Given the description of an element on the screen output the (x, y) to click on. 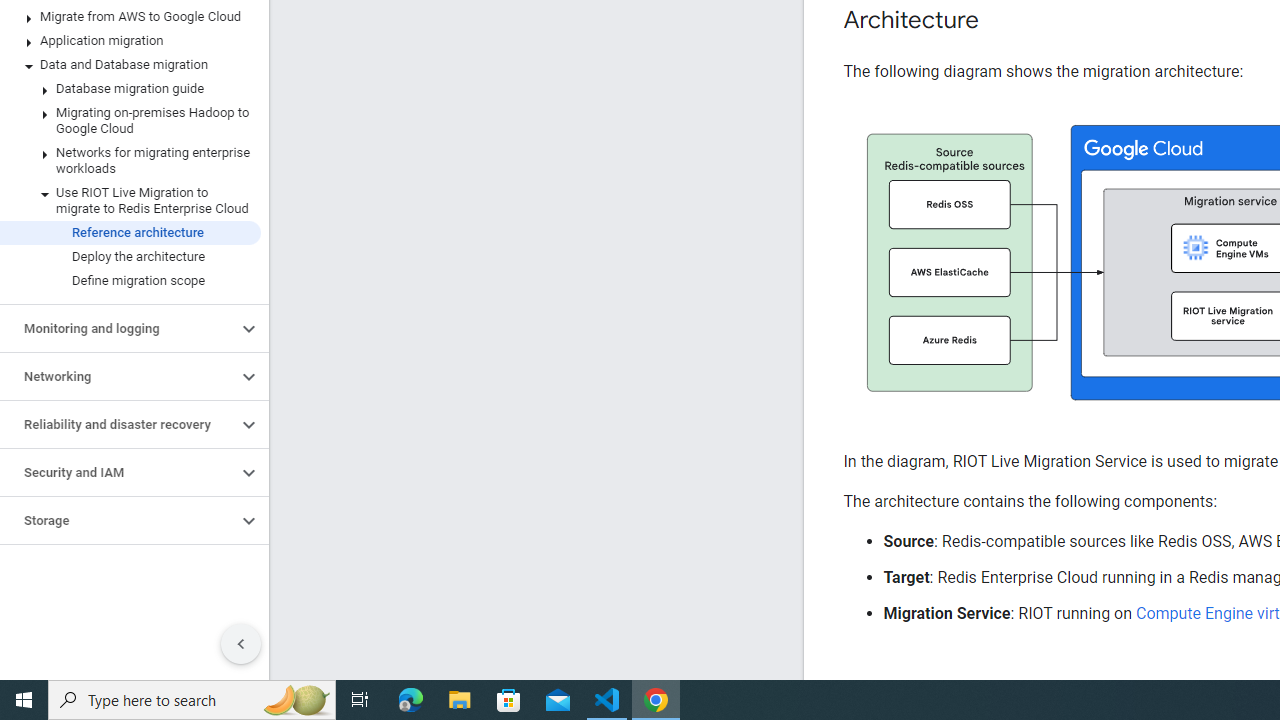
Data and Database migration (130, 65)
Security and IAM (118, 472)
